Given the description of an element on the screen output the (x, y) to click on. 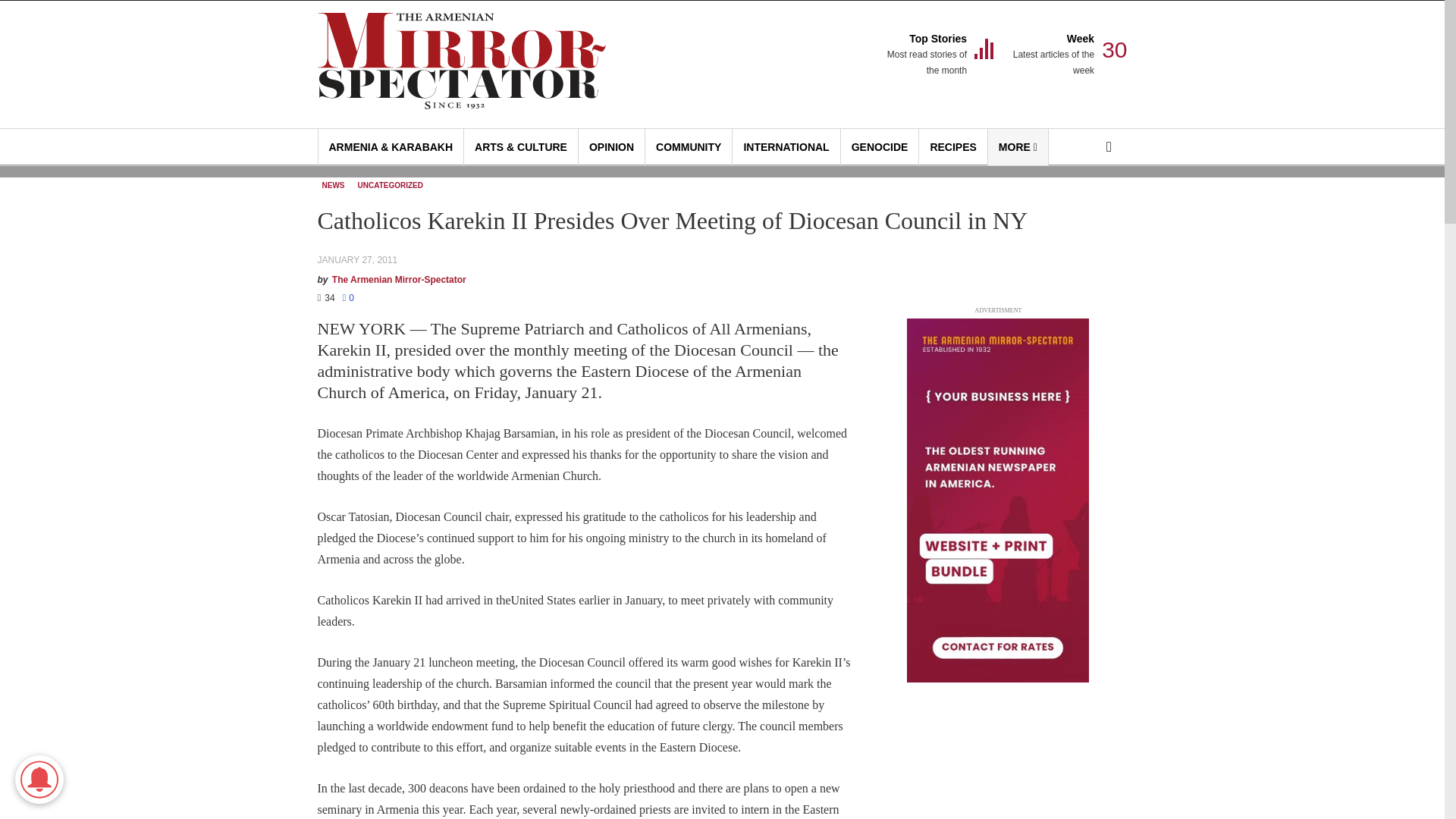
COMMUNITY (688, 146)
GENOCIDE (1052, 54)
OPINION (879, 146)
INTERNATIONAL (611, 146)
MORE (924, 54)
RECIPES (786, 146)
